Given the description of an element on the screen output the (x, y) to click on. 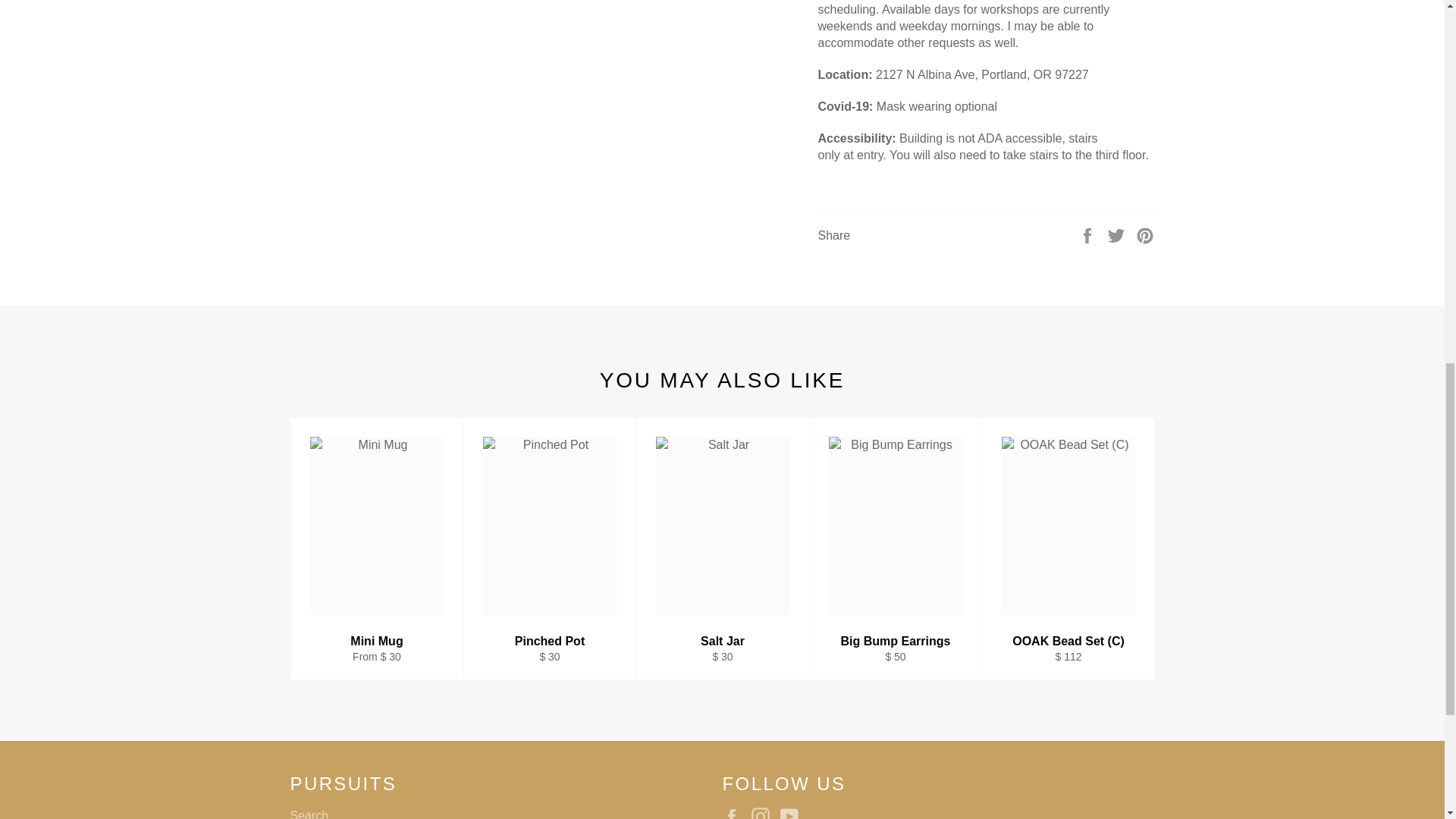
Share on Facebook (1088, 234)
Tweet on Twitter (1117, 234)
Pursuits Studio on YouTube (793, 813)
Pursuits Studio on Instagram (764, 813)
Pin on Pinterest (1144, 234)
Pursuits Studio on Facebook (735, 813)
